Given the description of an element on the screen output the (x, y) to click on. 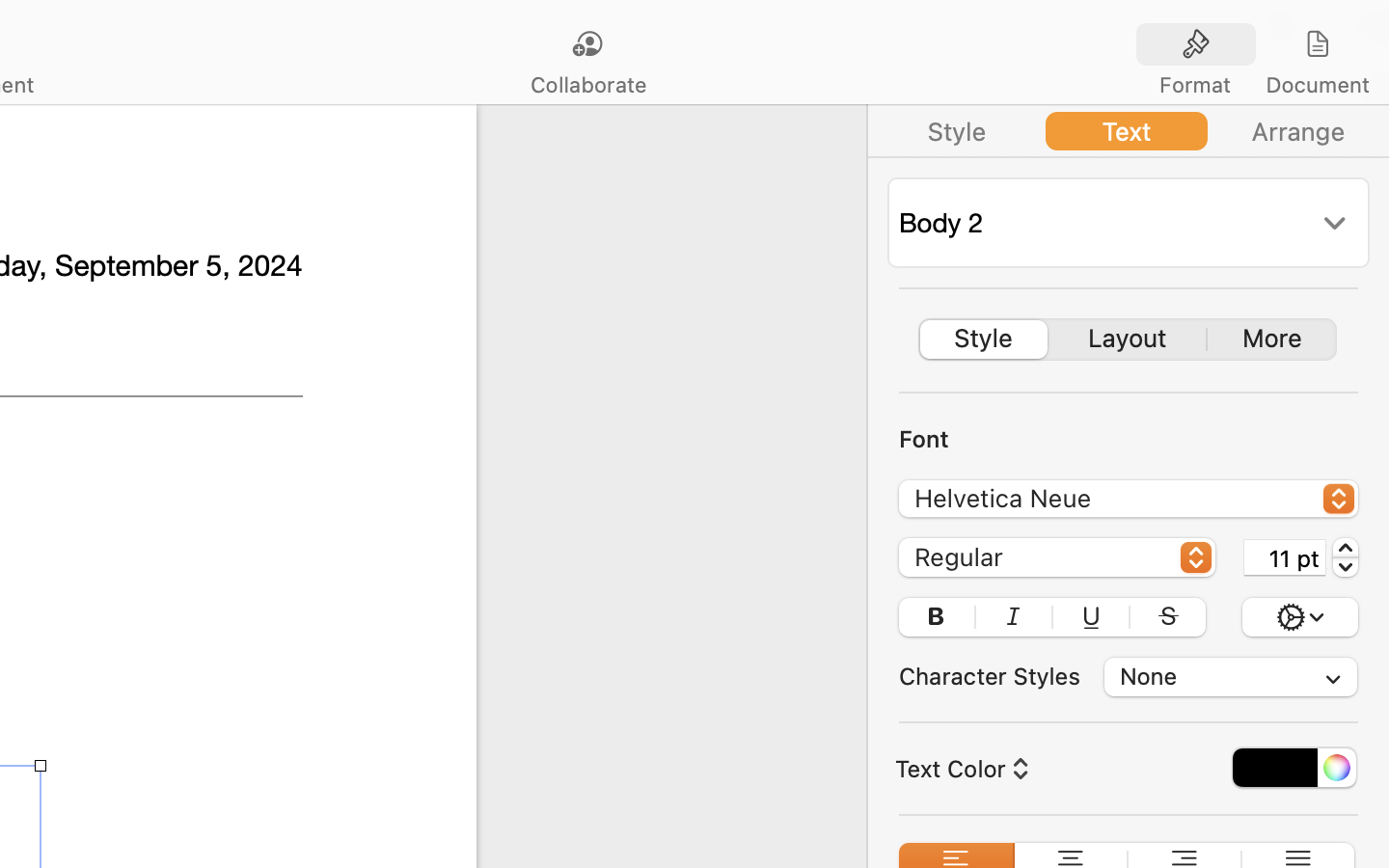
<AXUIElement 0x10de229e0> {pid=1482} Element type: AXRadioGroup (1128, 339)
11.0 Element type: AXIncrementor (1345, 557)
Regular Element type: AXPopUpButton (1058, 560)
11 pt Element type: AXTextField (1284, 557)
